Given the description of an element on the screen output the (x, y) to click on. 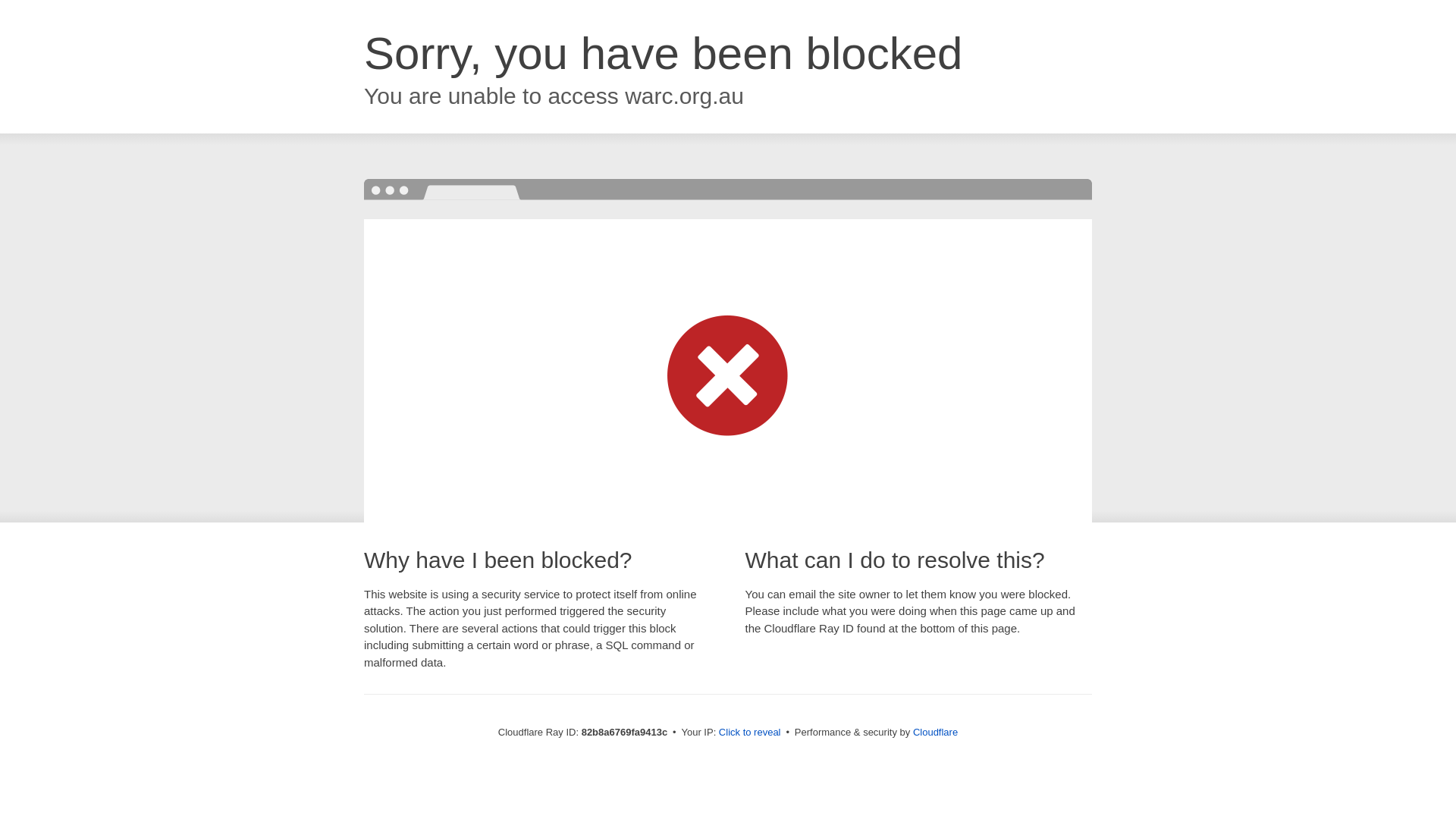
Click to reveal Element type: text (749, 732)
Cloudflare Element type: text (935, 731)
